Given the description of an element on the screen output the (x, y) to click on. 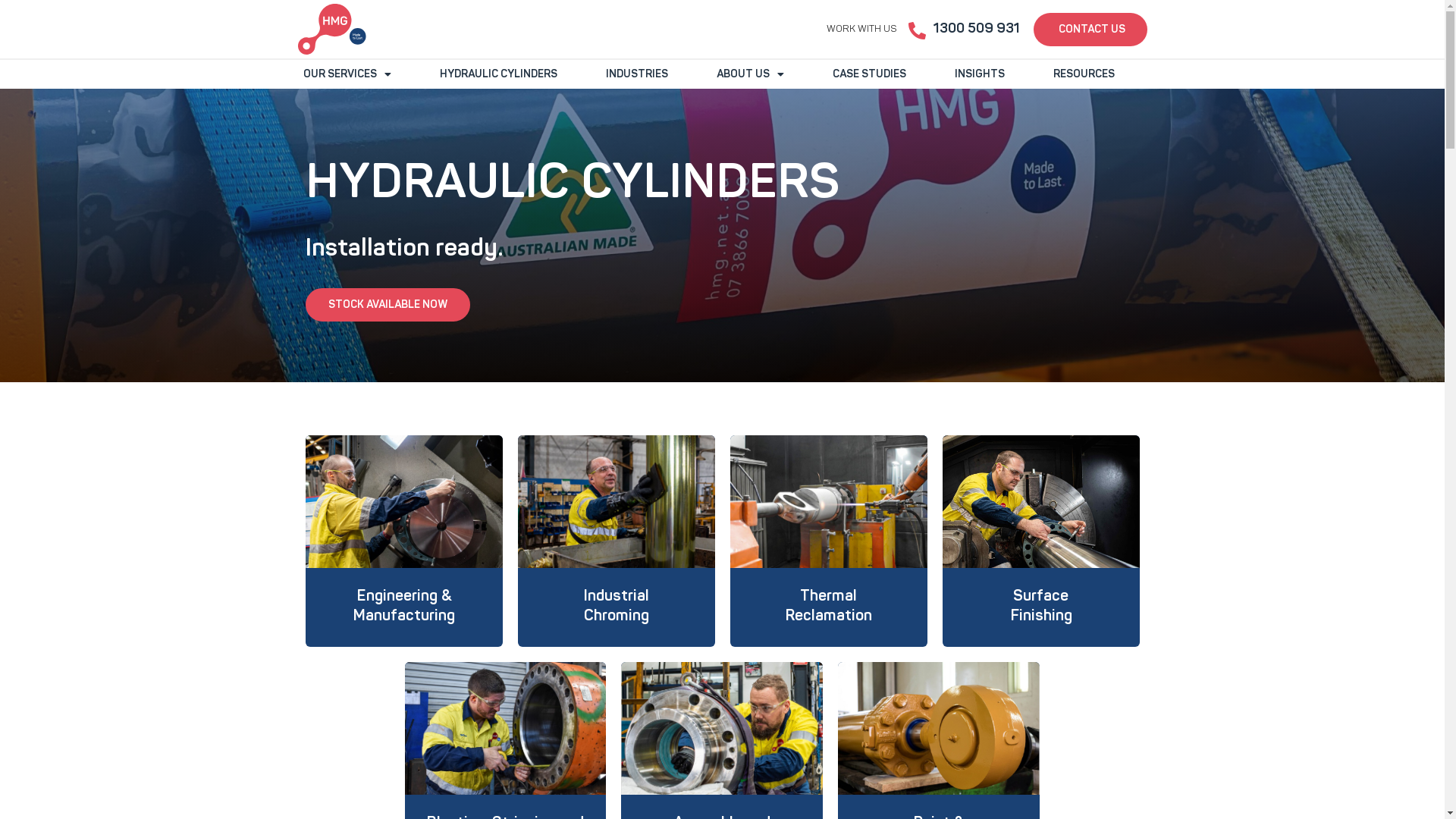
Surface
Finishing Element type: text (1041, 605)
INSIGHTS Element type: text (979, 73)
WORK WITH US Element type: text (861, 28)
HYDRAULIC CYLINDERS Element type: text (497, 73)
RESOURCES Element type: text (1083, 73)
CASE STUDIES Element type: text (868, 73)
Industrial
Chroming Element type: text (616, 605)
STOCK AVAILABLE NOW Element type: text (386, 304)
Thermal
Reclamation Element type: text (828, 605)
1300 509 931 Element type: text (975, 28)
INDUSTRIES Element type: text (636, 73)
Engineering & Manufacturing Element type: text (403, 605)
CONTACT US Element type: text (1089, 28)
OUR SERVICES Element type: text (346, 73)
ABOUT US Element type: text (750, 73)
